Given the description of an element on the screen output the (x, y) to click on. 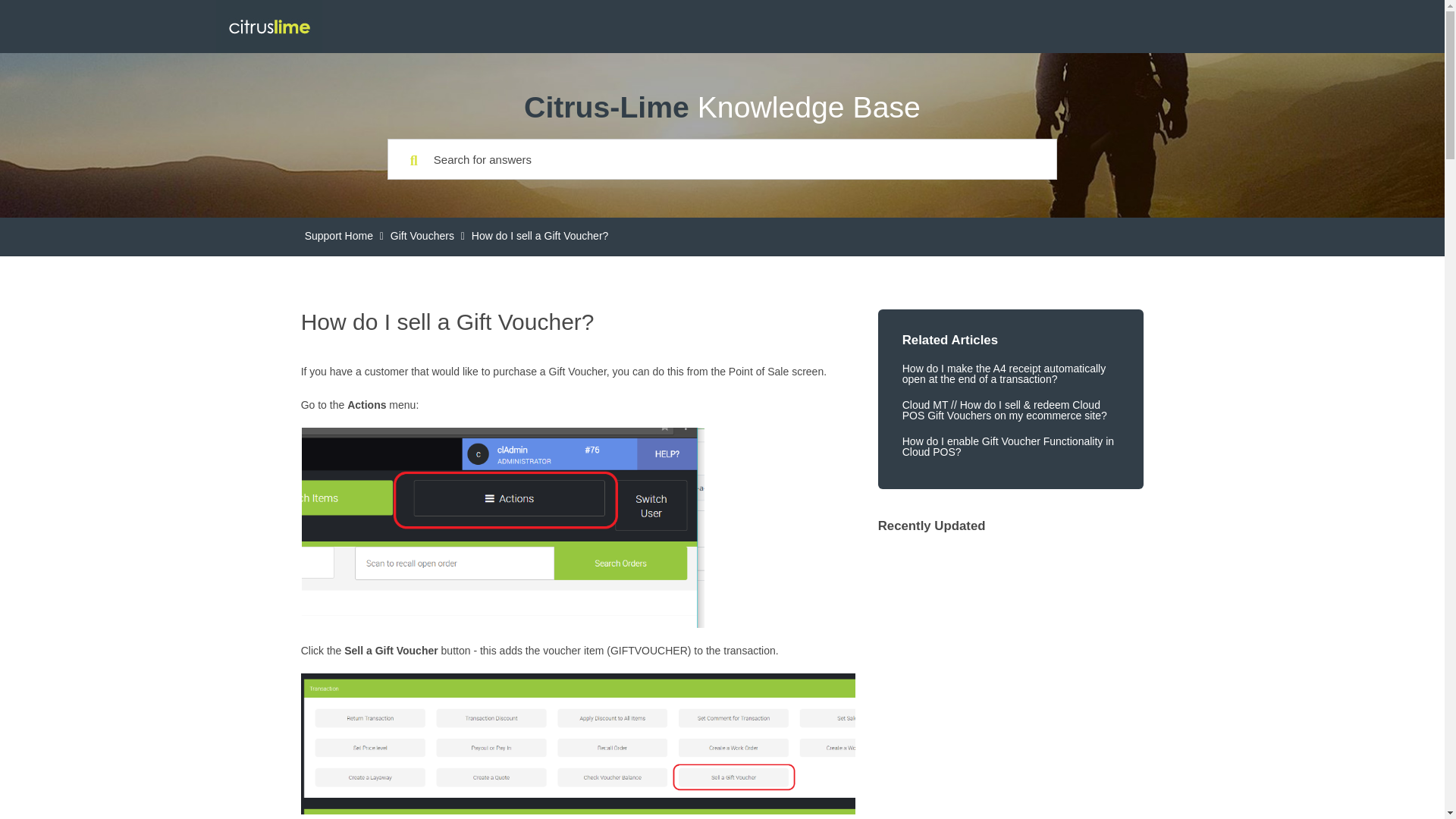
How do I enable Gift Voucher Functionality in Cloud POS? (1010, 446)
Support Home (338, 236)
How do I sell a Gift Voucher? (539, 236)
Gift Vouchers (422, 236)
